Given the description of an element on the screen output the (x, y) to click on. 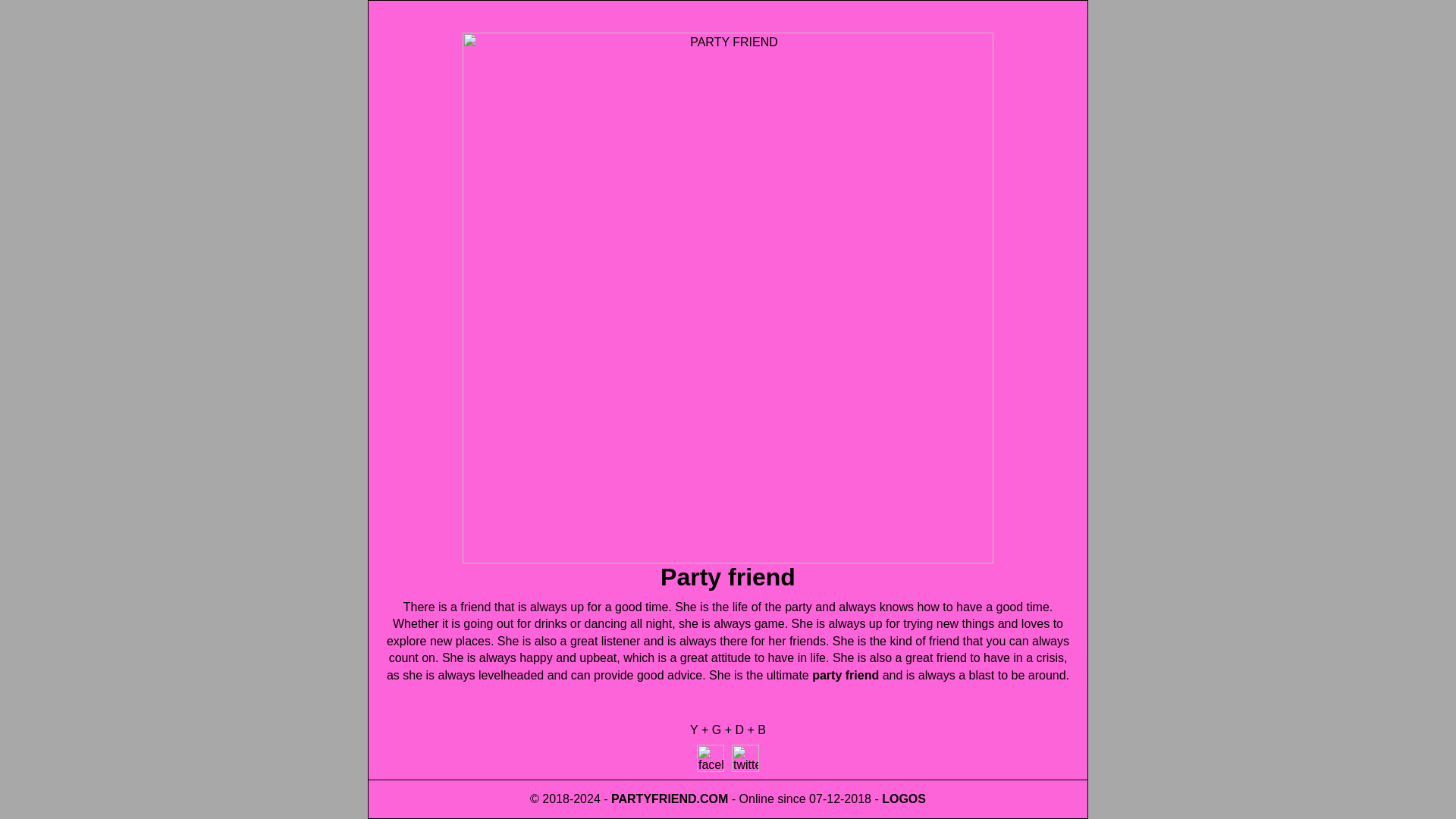
PARTYFRIEND.COM (727, 558)
facebook (710, 758)
LOGOS (904, 798)
PARTYFRIEND.COM (669, 798)
twitter (745, 758)
